Given the description of an element on the screen output the (x, y) to click on. 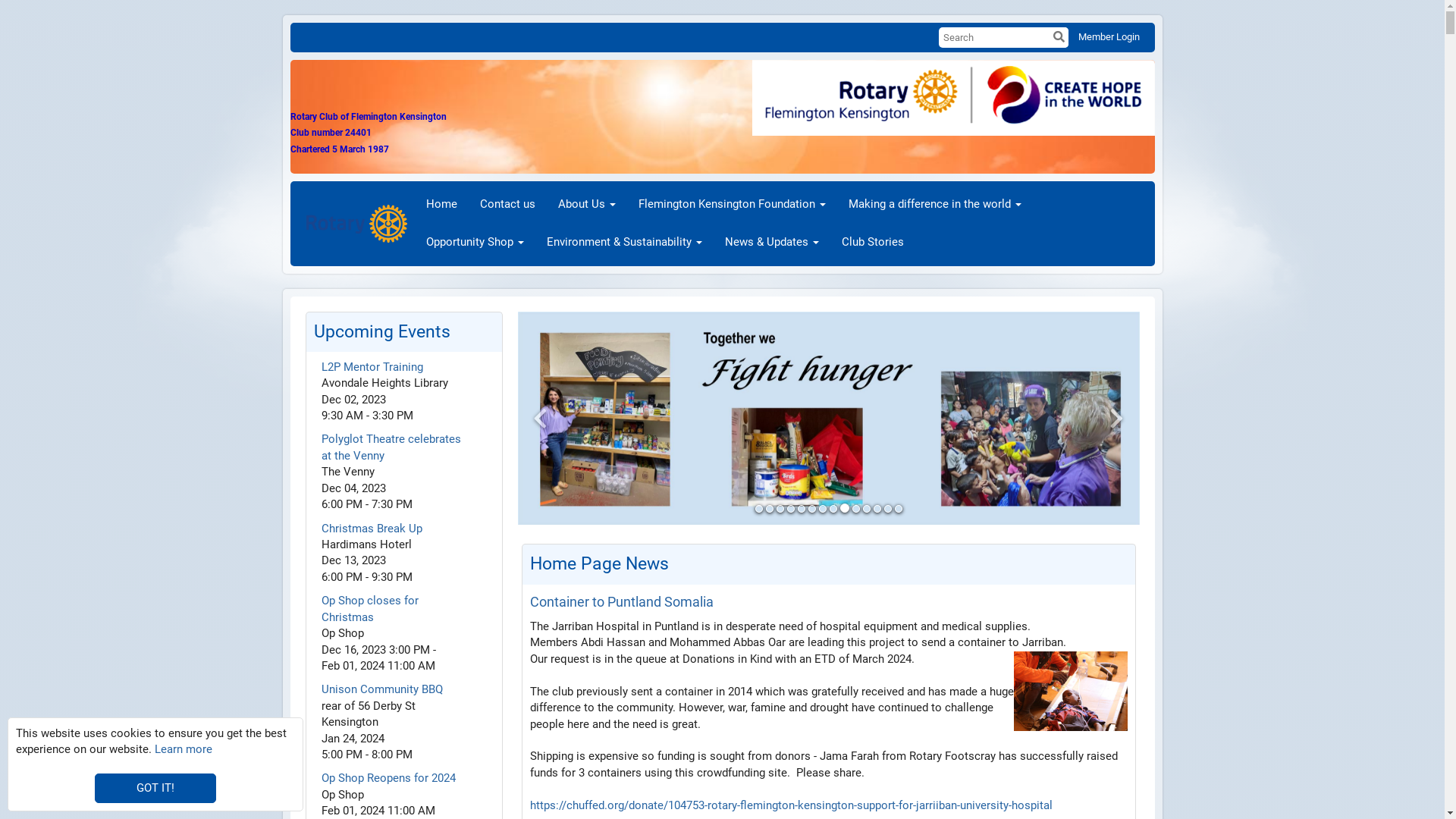
Op Shop closes for Christmas Element type: text (369, 608)
Christmas Break Up Element type: text (371, 528)
Polyglot Theatre celebrates at the Venny Element type: text (391, 446)
Making a difference in the world Element type: text (934, 204)
Member Login Element type: text (1108, 36)
News & Updates Element type: text (771, 242)
GOT IT! Element type: text (155, 788)
Unison Community BBQ Element type: text (381, 689)
Contact us Element type: text (507, 204)
Home Element type: text (441, 204)
Opportunity Shop Element type: text (474, 242)
About Us Element type: text (586, 204)
Op Shop Reopens for 2024 Element type: text (388, 777)
Container to Puntland Somalia Element type: text (620, 601)
Club Stories Element type: text (872, 242)
Flemington Kensington Foundation Element type: text (732, 204)
Learn more Element type: text (183, 749)
Environment & Sustainability Element type: text (624, 242)
L2P Mentor Training Element type: text (372, 366)
